Given the description of an element on the screen output the (x, y) to click on. 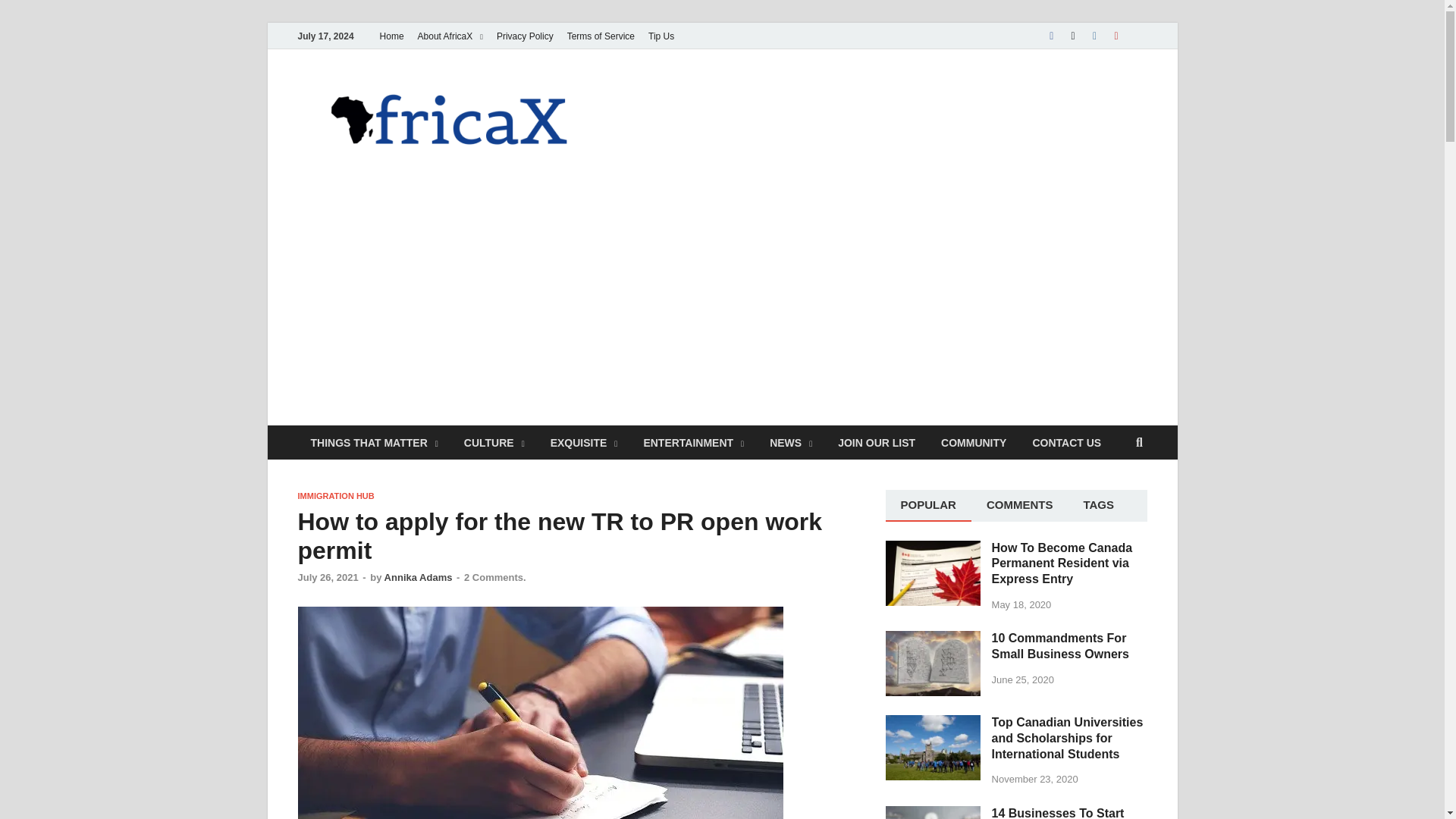
Privacy Policy (524, 35)
CULTURE (494, 442)
EXQUISITE (583, 442)
Terms of Service (601, 35)
14 Businesses To Start With Little Or No Capital (932, 813)
10 Commandments For Small Business Owners (932, 639)
Home (391, 35)
About AfricaX (449, 35)
Tip Us (661, 35)
AfricaX (659, 100)
THINGS THAT MATTER (373, 442)
How To Become Canada Permanent Resident via Express Entry (932, 549)
ENTERTAINMENT (693, 442)
